Given the description of an element on the screen output the (x, y) to click on. 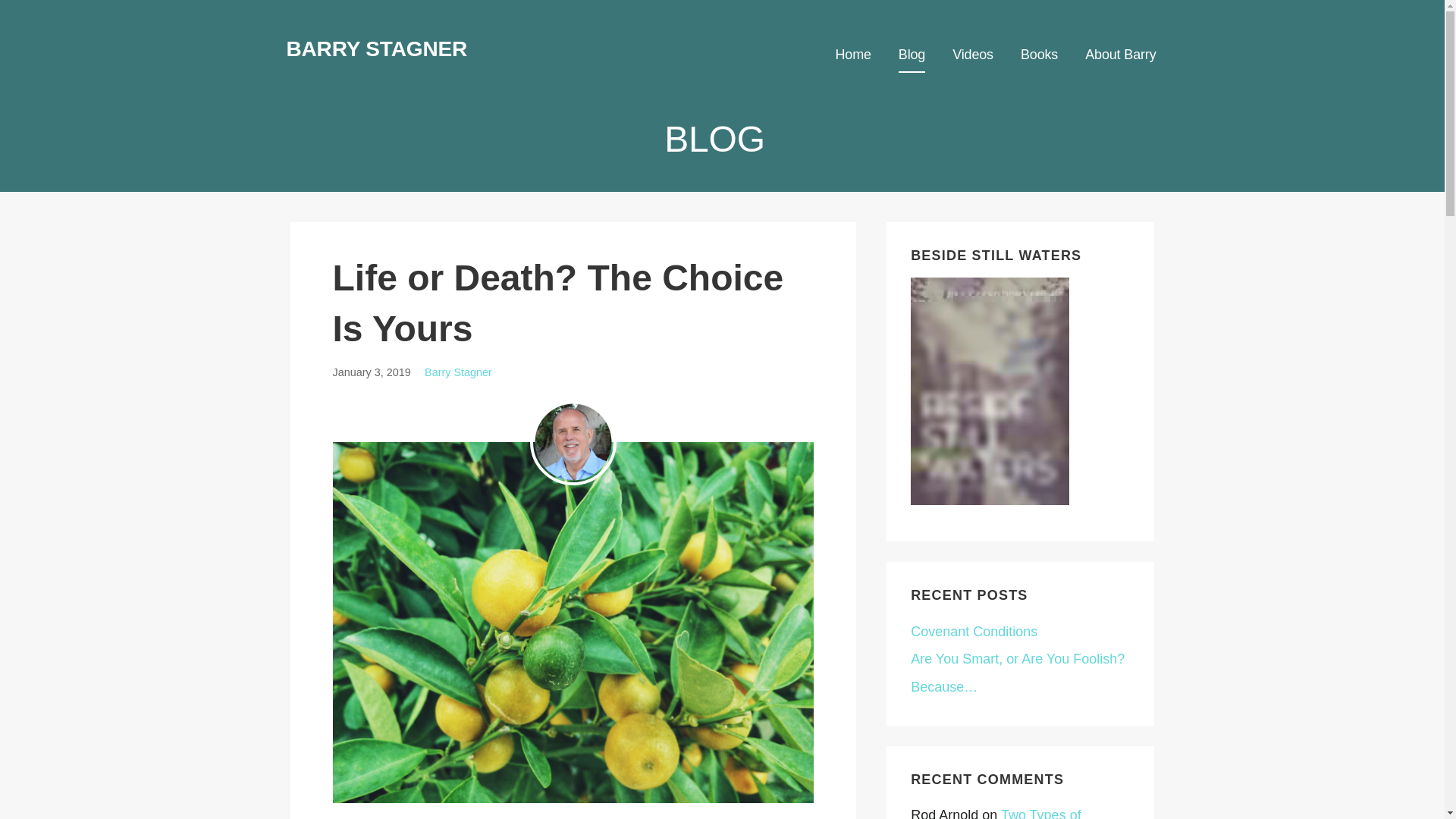
Barry Stagner (458, 372)
Home (852, 55)
BARRY STAGNER (376, 48)
Videos (972, 55)
Blog (911, 55)
Posts by Barry Stagner (458, 372)
Covenant Conditions (973, 631)
Two Types of Forgiveness (996, 813)
About Barry (1120, 55)
Are You Smart, or Are You Foolish?  (1019, 658)
Books (1039, 55)
